Given the description of an element on the screen output the (x, y) to click on. 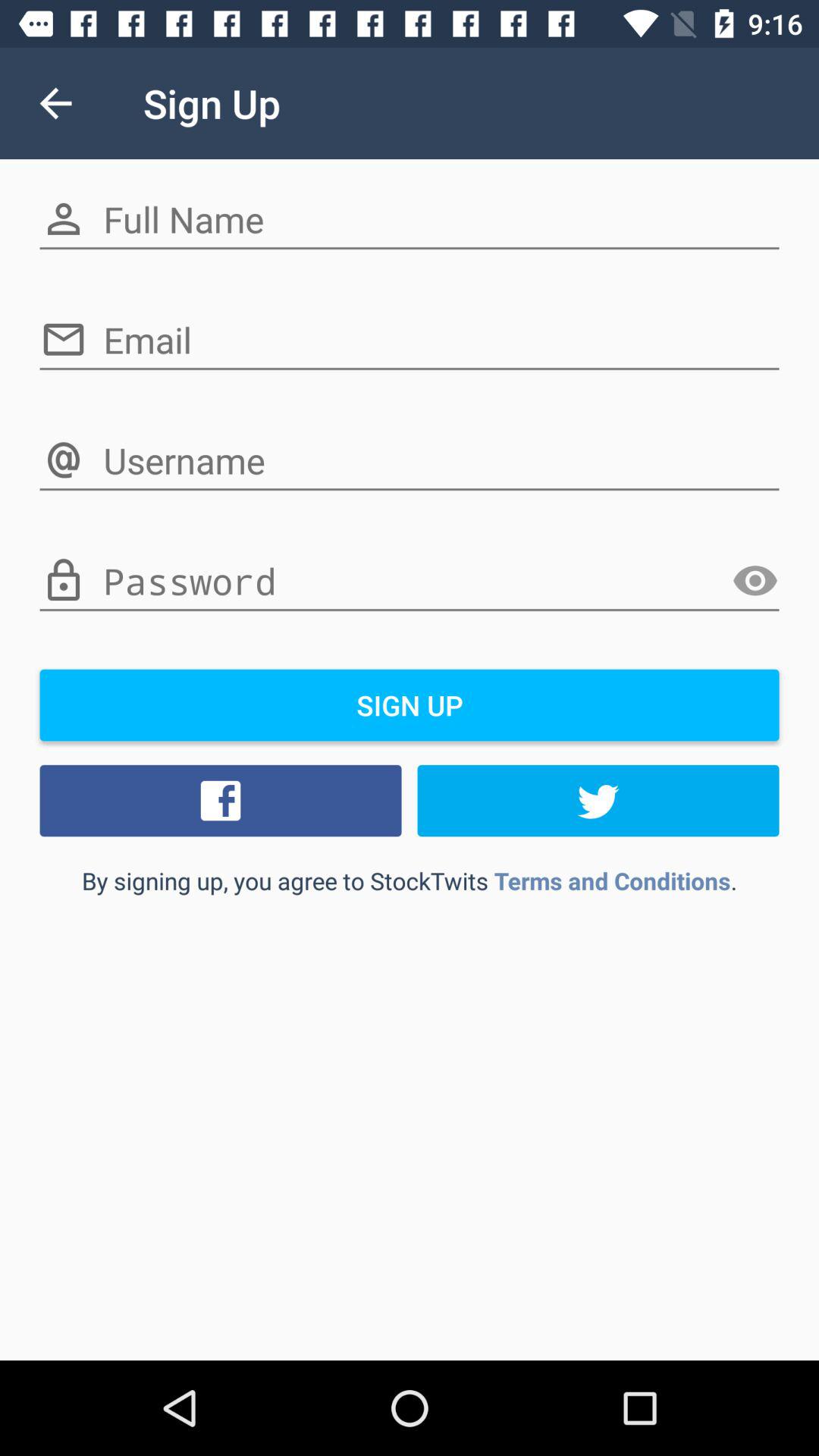
select icon above sign up (409, 581)
